Given the description of an element on the screen output the (x, y) to click on. 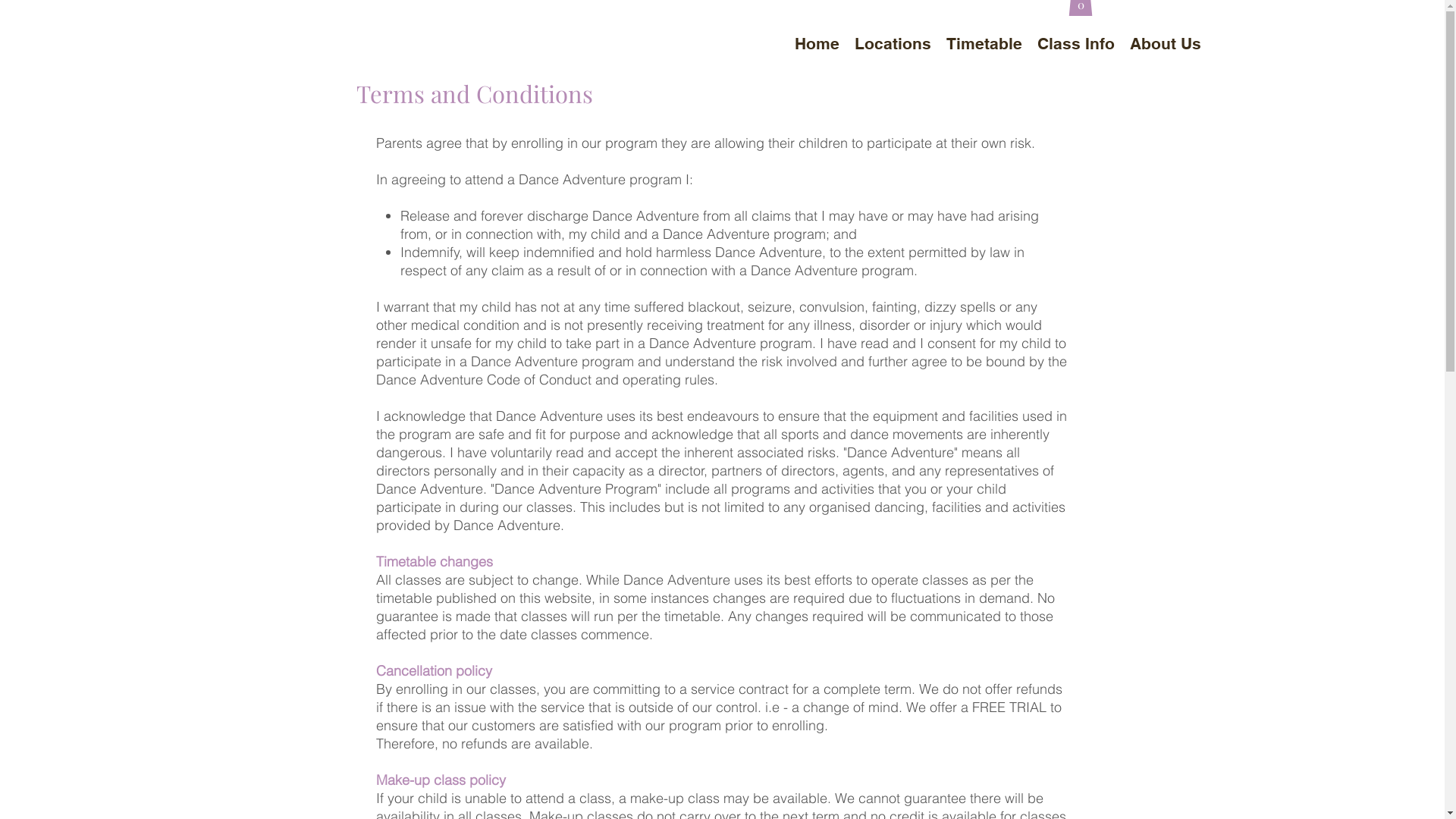
Class Info Element type: text (1075, 43)
Home Element type: text (817, 43)
About Us Element type: text (1165, 43)
